Given the description of an element on the screen output the (x, y) to click on. 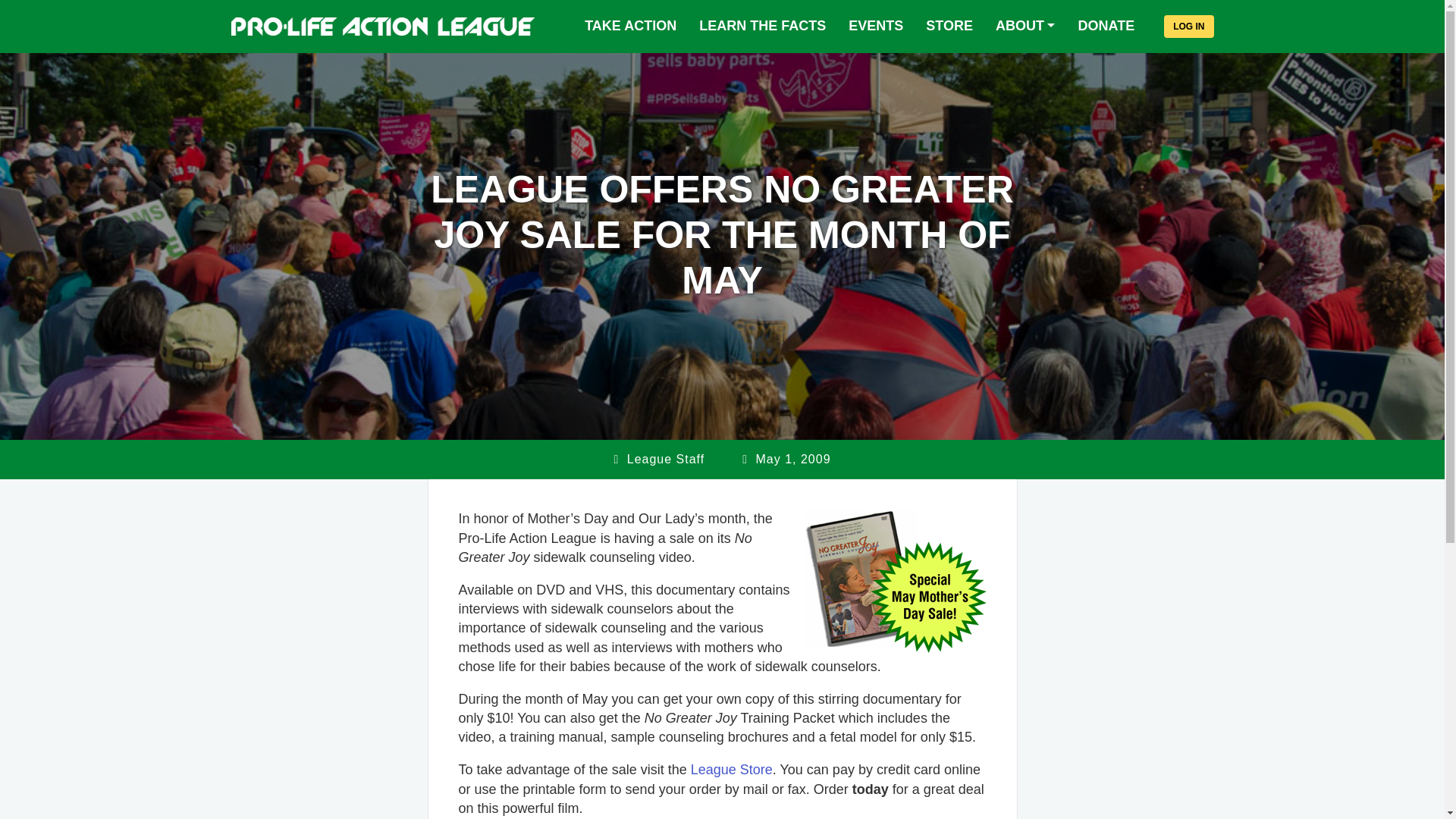
LOG IN (1187, 26)
TAKE ACTION (630, 26)
LEARN THE FACTS (762, 26)
League Store (731, 769)
STORE (949, 26)
DONATE (1105, 26)
EVENTS (875, 26)
ABOUT (1025, 26)
